Given the description of an element on the screen output the (x, y) to click on. 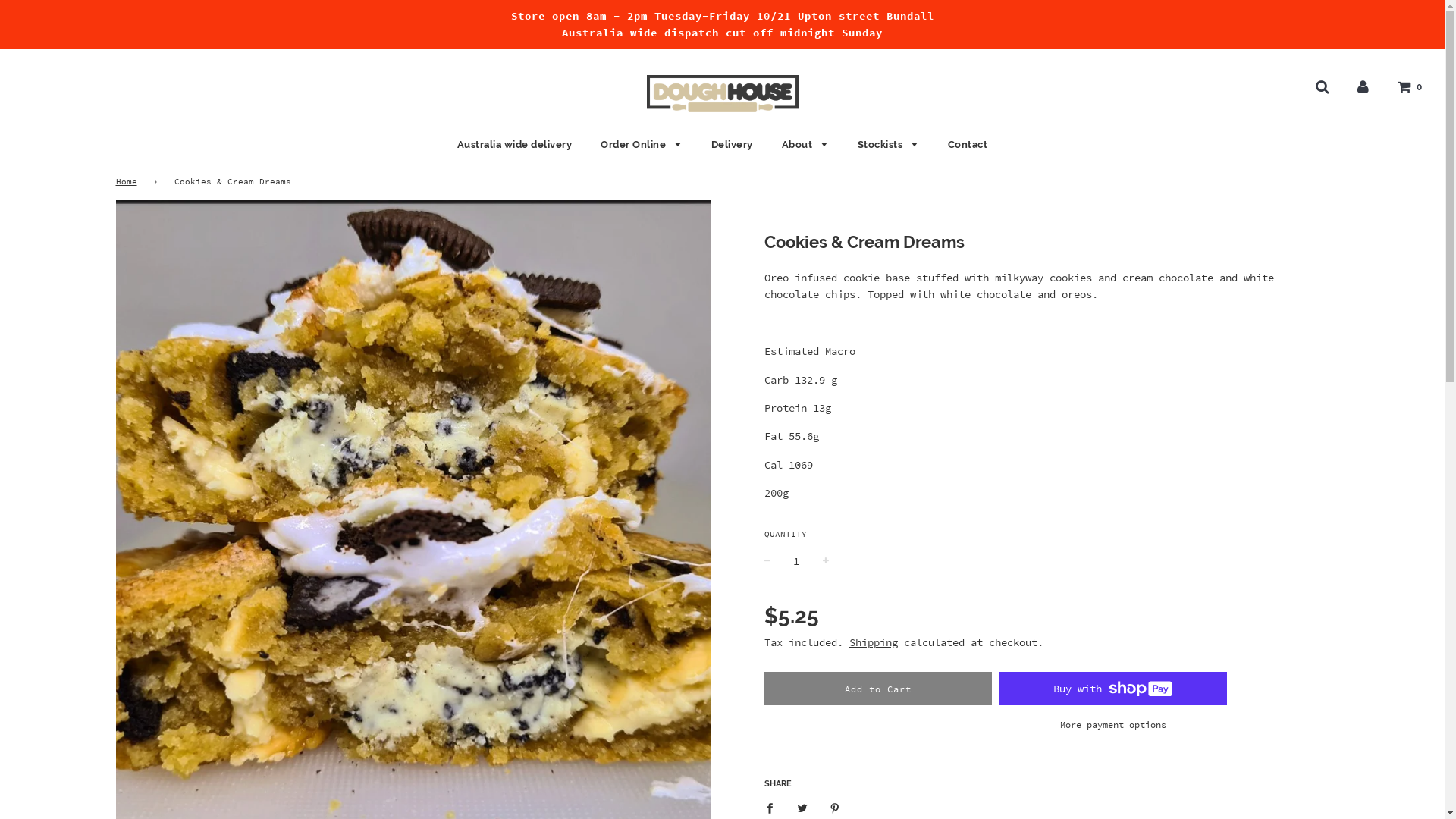
More payment options Element type: text (1112, 724)
About Element type: text (805, 144)
Delivery Element type: text (731, 144)
Australia wide delivery Element type: text (514, 144)
Add to Cart Element type: text (877, 688)
0 Element type: text (1409, 86)
Home Element type: text (128, 181)
Stockists Element type: text (888, 144)
Contact Element type: text (962, 144)
Log in Element type: hover (1362, 86)
+ Element type: text (825, 561)
Shipping Element type: text (873, 642)
Order Online Element type: text (641, 144)
